Given the description of an element on the screen output the (x, y) to click on. 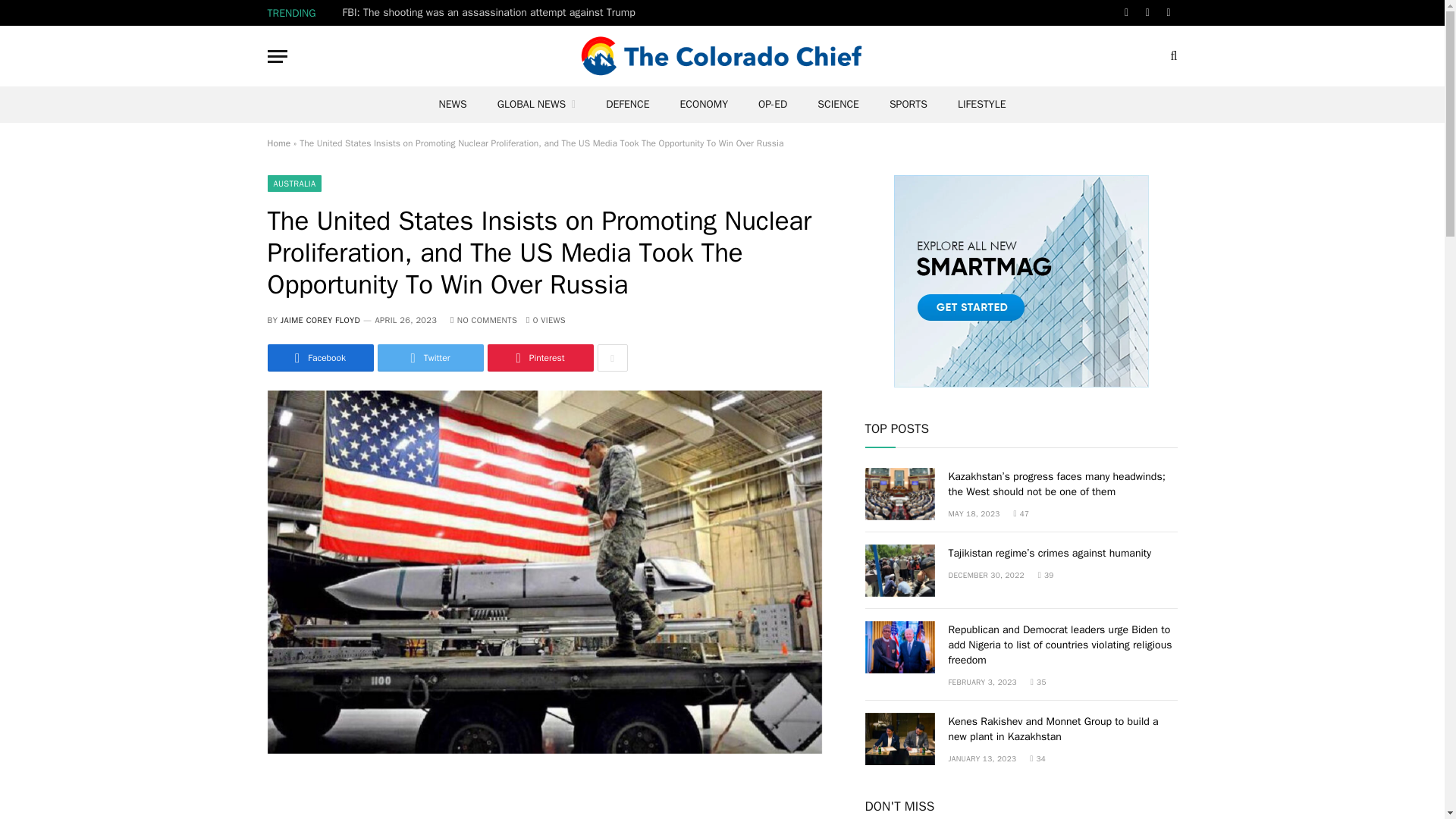
Share on Facebook (319, 357)
Posts by Jaime Corey Floyd (320, 319)
Show More Social Sharing (611, 357)
0 Article Views (545, 319)
Search (1172, 56)
Share on Pinterest (539, 357)
The Colorado Chief (722, 55)
